Given the description of an element on the screen output the (x, y) to click on. 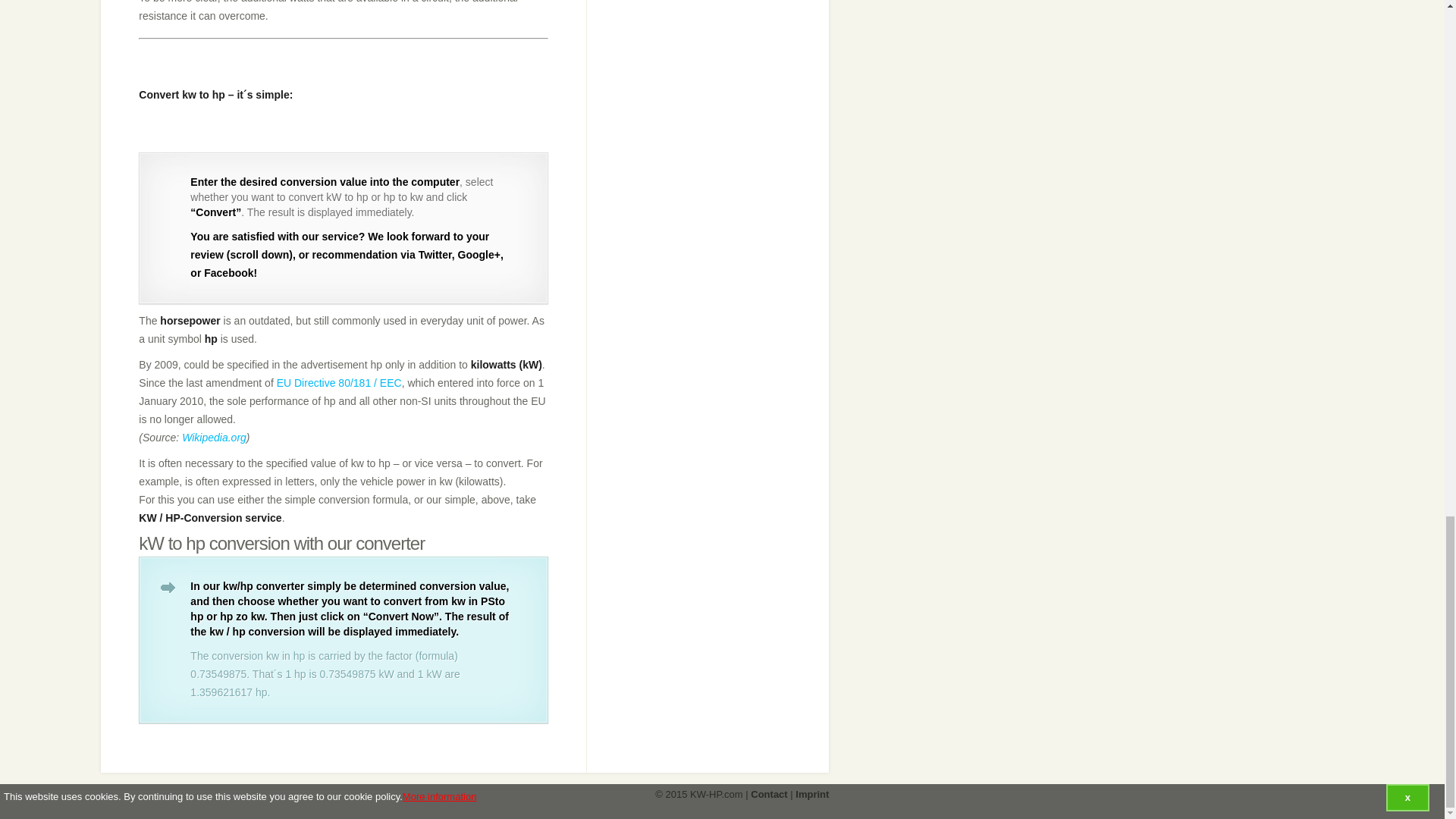
Advertisement (414, 75)
Wikipedia (214, 437)
